Given the description of an element on the screen output the (x, y) to click on. 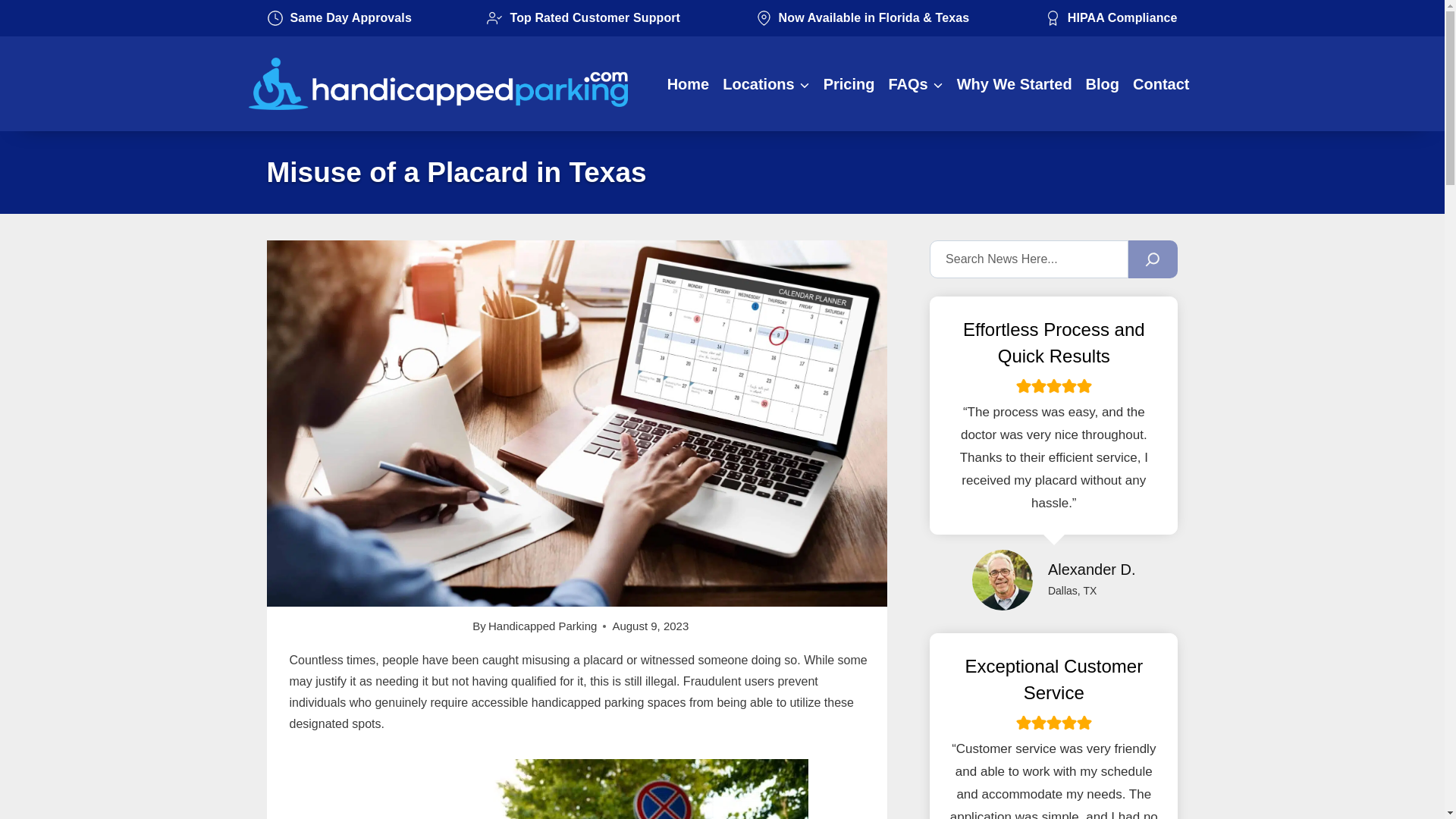
Locations (765, 83)
Contact (1160, 83)
Handicapped Parking (541, 625)
Blog (1101, 83)
Home (688, 83)
Why We Started (1014, 83)
FAQs (914, 83)
Pricing (849, 83)
